Given the description of an element on the screen output the (x, y) to click on. 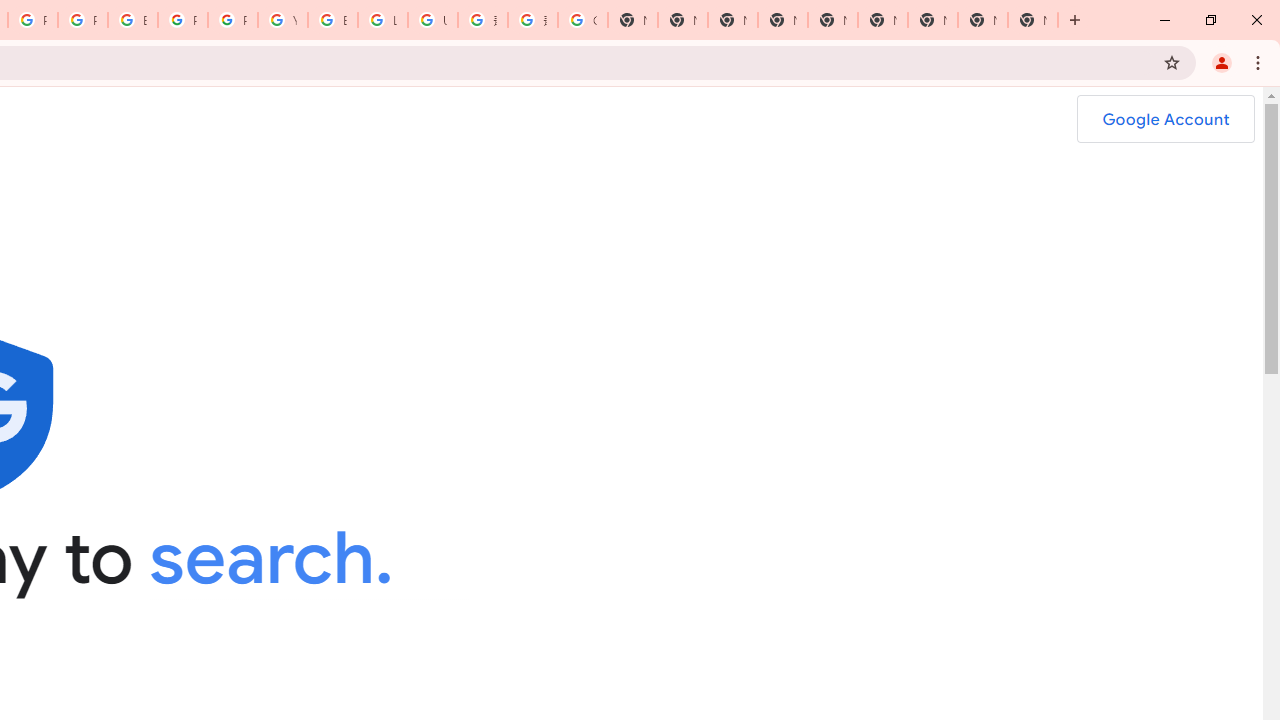
Privacy Help Center - Policies Help (82, 20)
YouTube (283, 20)
Google Images (582, 20)
New Tab (782, 20)
